Given the description of an element on the screen output the (x, y) to click on. 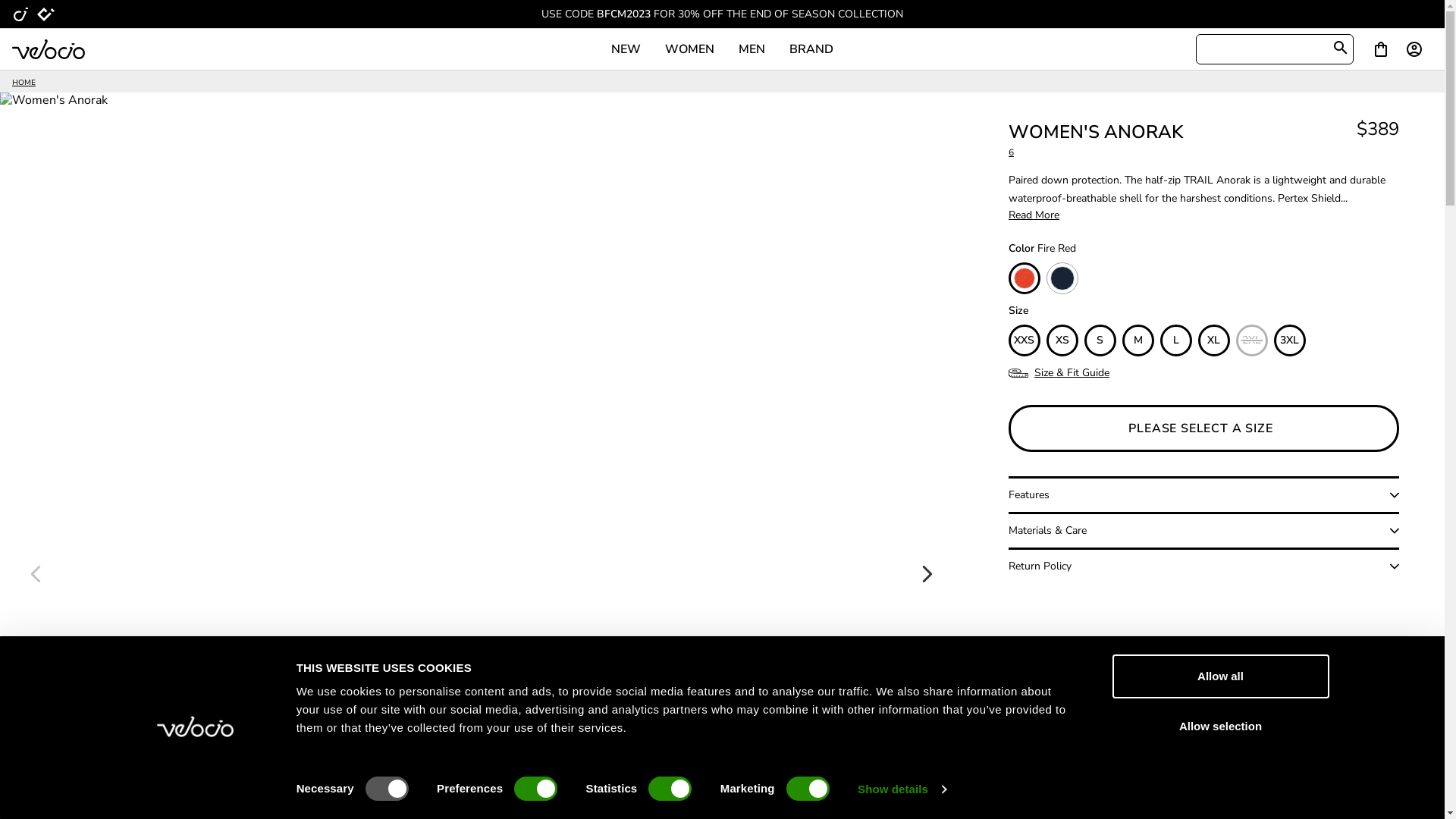
shopping_bag Element type: text (1380, 49)
Support Element type: text (1377, 790)
USE CODE BFCM2023 FOR 30% OFF THE END OF SEASON COLLECTION Element type: text (722, 13)
Size & Fit Guide Element type: text (1071, 372)
PLEASE SELECT A SIZE Element type: text (1203, 427)
Show details Element type: text (901, 789)
HOME Element type: text (23, 82)
BRAND Element type: text (811, 48)
Allow all Element type: text (1219, 676)
WOMEN Element type: text (689, 48)
6 Element type: text (1095, 153)
Read More Element type: text (1033, 214)
NEW Element type: text (625, 48)
MEN Element type: text (751, 48)
account_circle Element type: text (1417, 49)
Allow selection Element type: text (1219, 725)
